Given the description of an element on the screen output the (x, y) to click on. 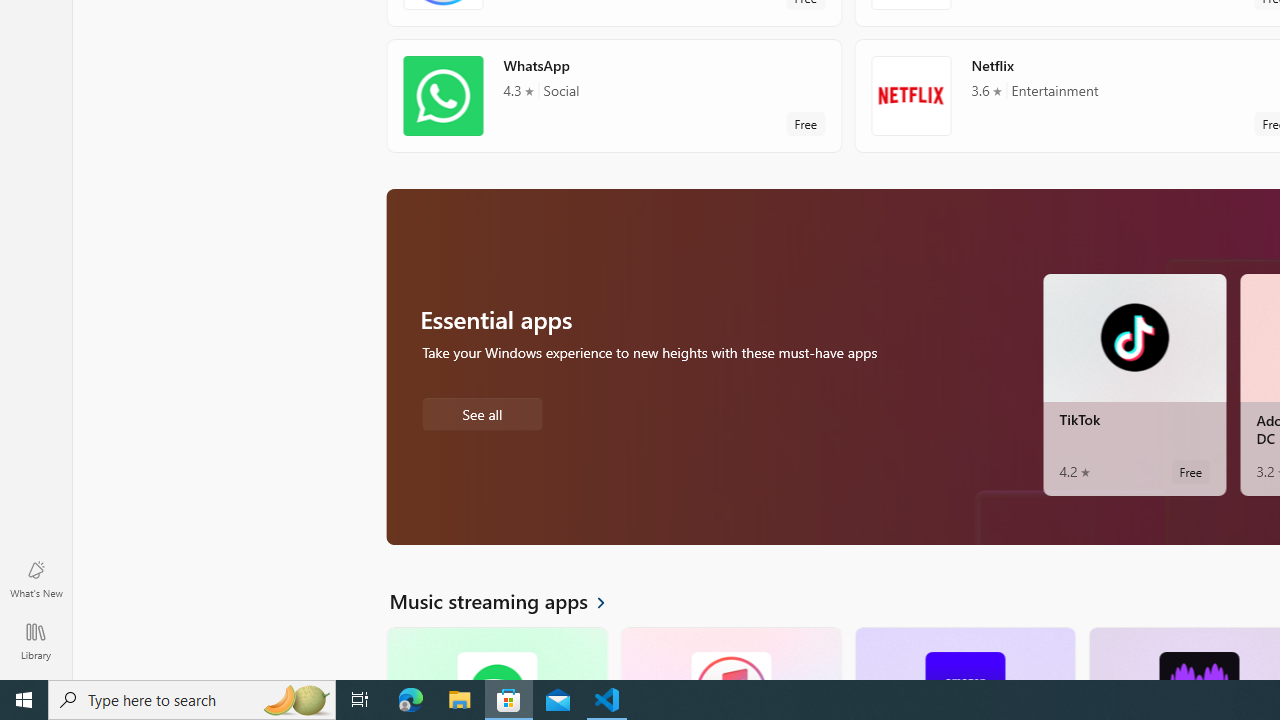
iTunes. Average rating of 2.5 out of five stars. Free   (730, 653)
WhatsApp. Average rating of 4.3 out of five stars. Free   (614, 95)
See all  Music streaming apps (509, 600)
See all  Essential apps (481, 412)
Library (35, 640)
TikTok. Average rating of 4.2 out of five stars. Free   (1134, 384)
What's New (35, 578)
